Given the description of an element on the screen output the (x, y) to click on. 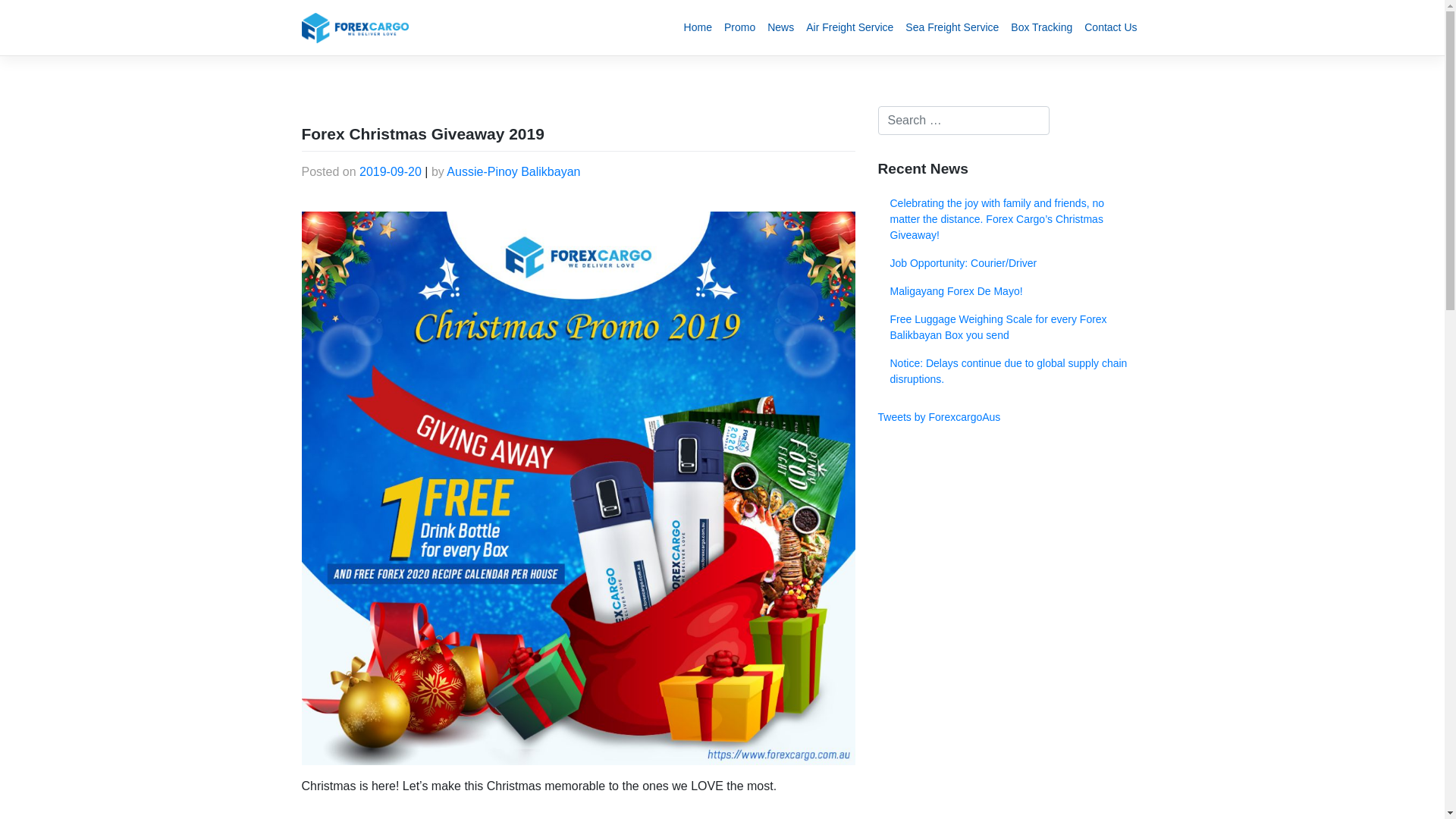
Search Element type: text (29, 14)
Search for: Element type: hover (963, 120)
2019-09-20 Element type: text (390, 171)
Job Opportunity: Courier/Driver Element type: text (1010, 263)
Air Freight Service Element type: text (849, 27)
Aussie-Pinoy Balikbayan Element type: text (513, 171)
Box Tracking Element type: text (1041, 27)
Home Element type: text (697, 27)
Maligayang Forex De Mayo! Element type: text (1010, 291)
Promo Element type: text (739, 27)
Tweets by ForexcargoAus Element type: text (939, 417)
Contact Us Element type: text (1110, 27)
News Element type: text (780, 27)
Skip to content Element type: text (0, 0)
Sea Freight Service Element type: text (951, 27)
